Given the description of an element on the screen output the (x, y) to click on. 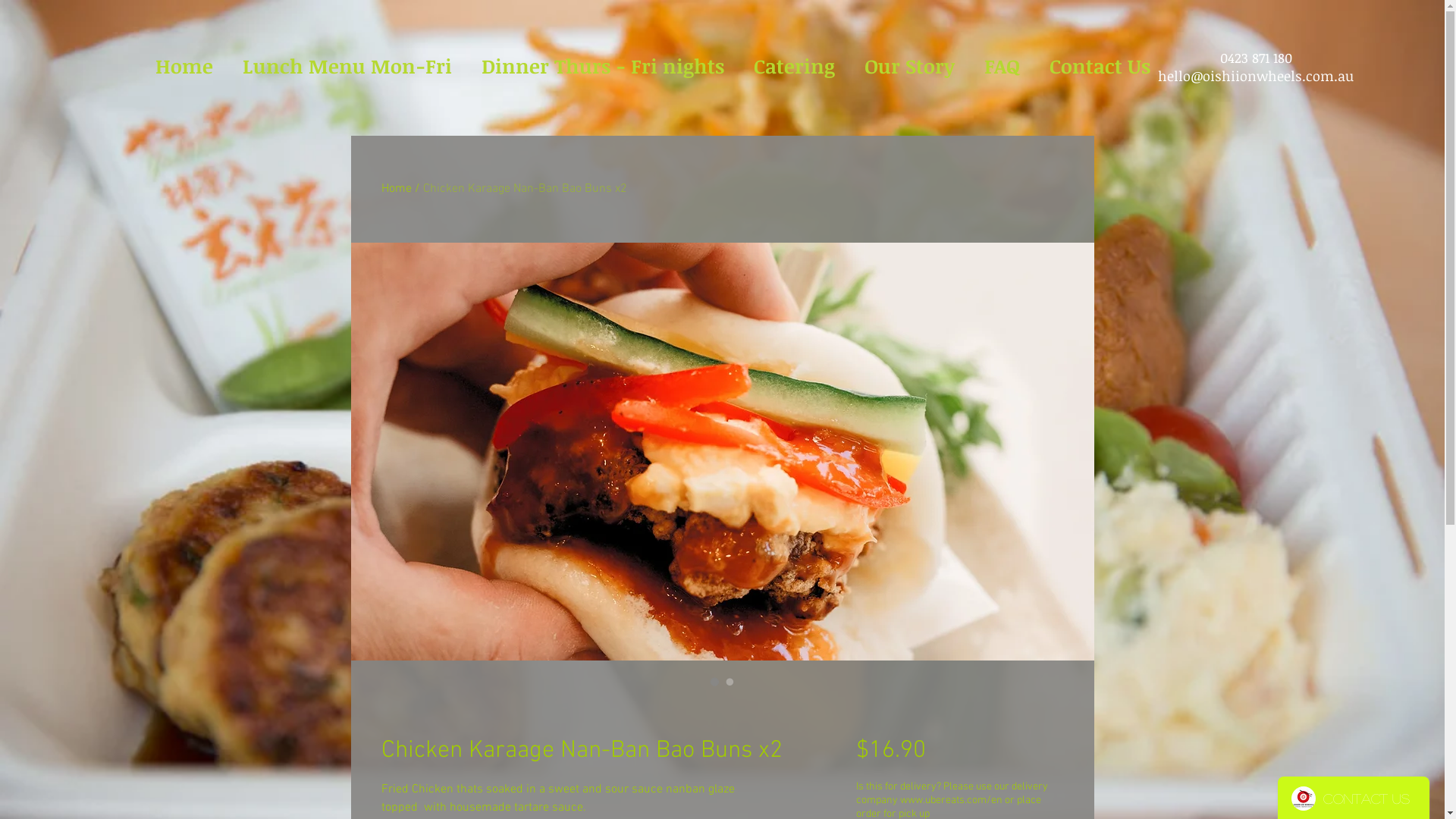
Catering Element type: text (793, 66)
Lunch Menu Mon-Fri Element type: text (346, 66)
Home Element type: text (184, 66)
Our Story Element type: text (909, 66)
FAQ Element type: text (1001, 66)
Chicken Karaage Nan-Ban Bao Buns x2 Element type: text (525, 188)
Contact Us Element type: text (1099, 66)
Dinner Thurs - Fri nights Element type: text (603, 66)
hello@oishiionwheels.com.au Element type: text (1255, 75)
Home Element type: text (395, 188)
